Given the description of an element on the screen output the (x, y) to click on. 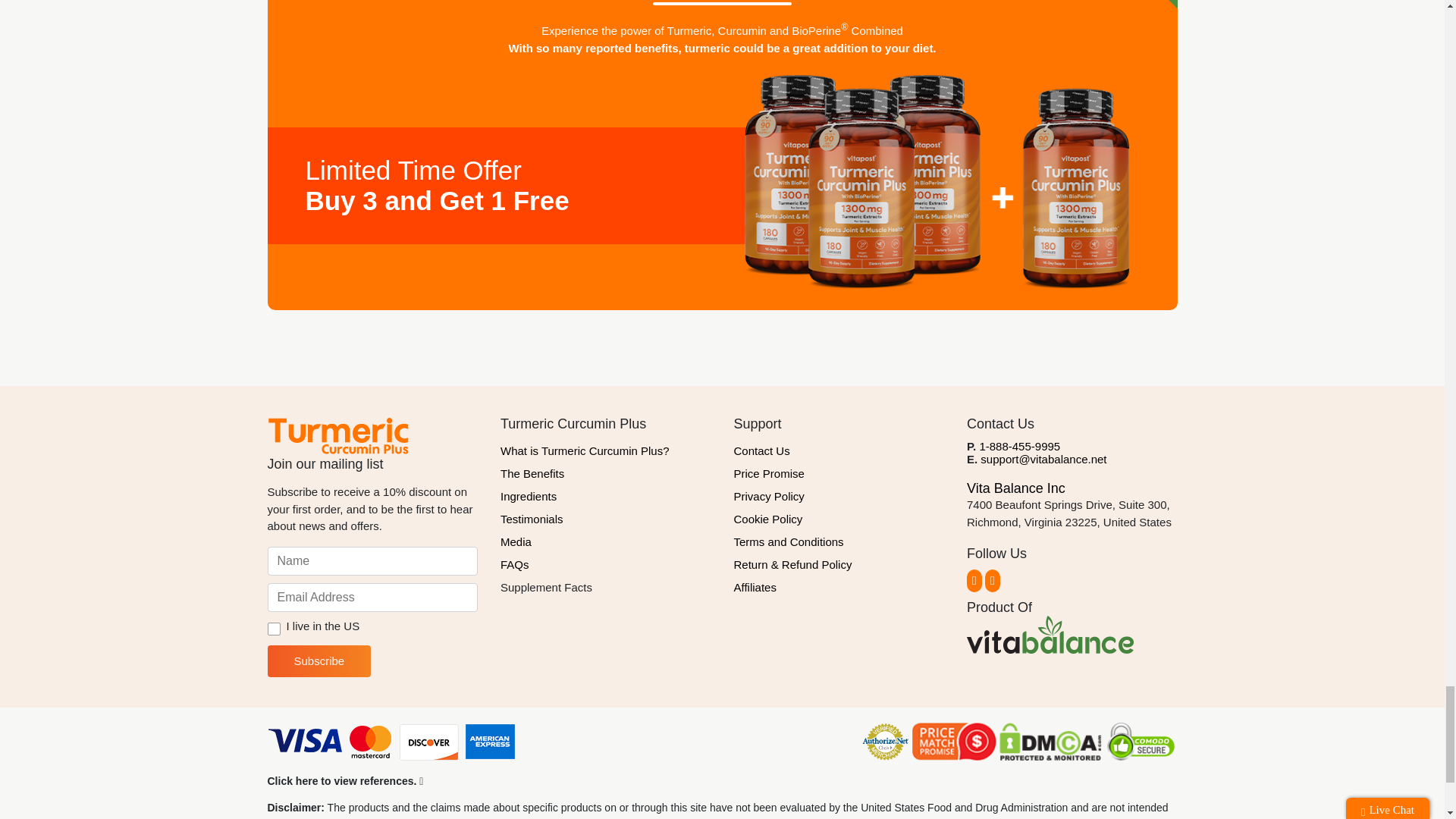
Media (605, 541)
What is Turmeric Curcumin Plus? (605, 450)
Subscribe (318, 661)
The Benefits (605, 473)
Contact Us (838, 450)
DMCA.com Protection Status (1049, 742)
FAQs (605, 564)
Vita Balance Official Logo (1050, 634)
Ingredients (605, 496)
Price Promise (838, 473)
Testimonials (605, 518)
Turmeric Curcumin Plus Official Logo (336, 435)
